Given the description of an element on the screen output the (x, y) to click on. 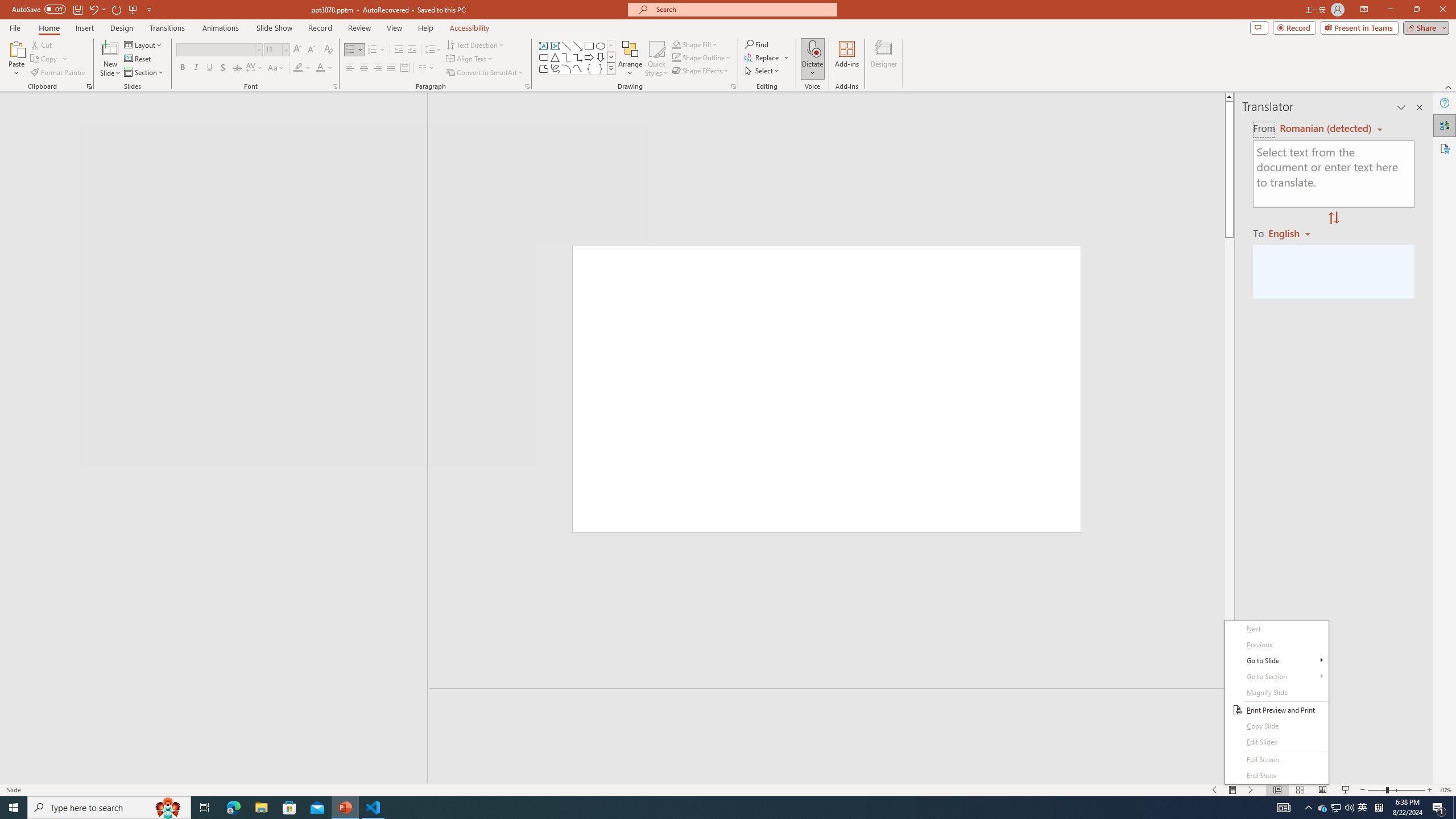
Action Center, 1 new notification (1439, 807)
Full Screen (1276, 759)
Line Arrow (577, 45)
Arrange (1322, 807)
Office Clipboard... (630, 58)
